Given the description of an element on the screen output the (x, y) to click on. 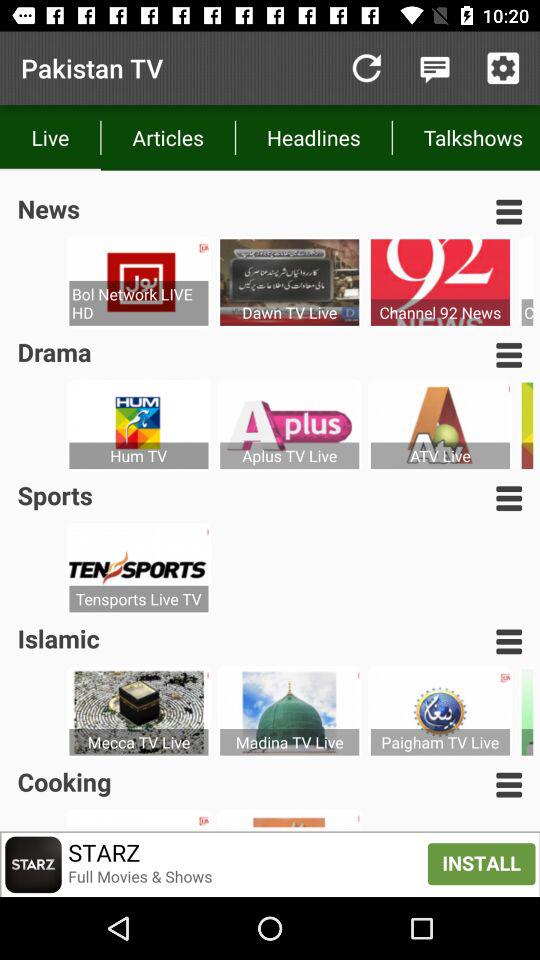
scroll to cooking (64, 781)
